Given the description of an element on the screen output the (x, y) to click on. 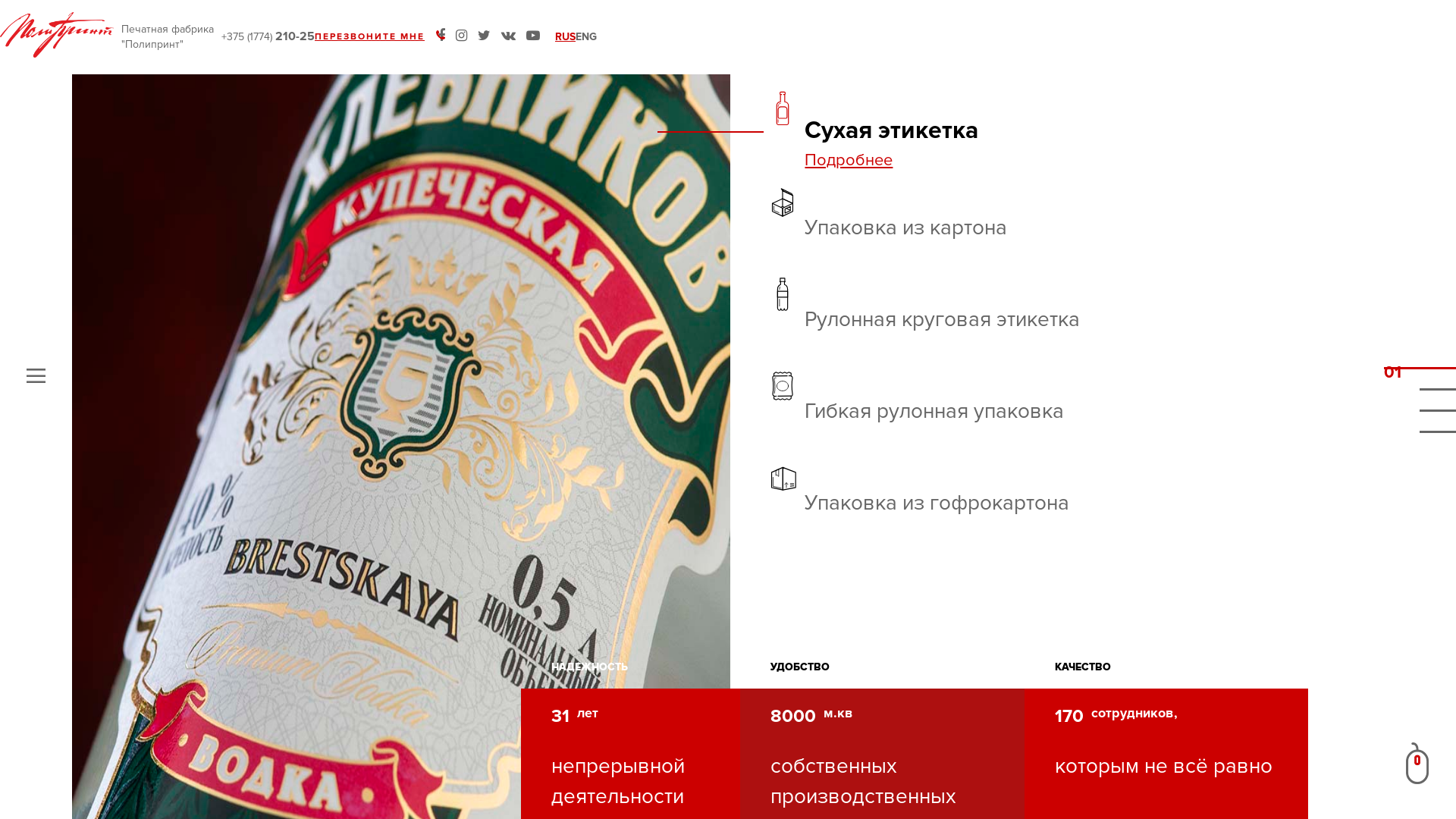
+375 (1774) 210-25 Element type: text (267, 37)
